Given the description of an element on the screen output the (x, y) to click on. 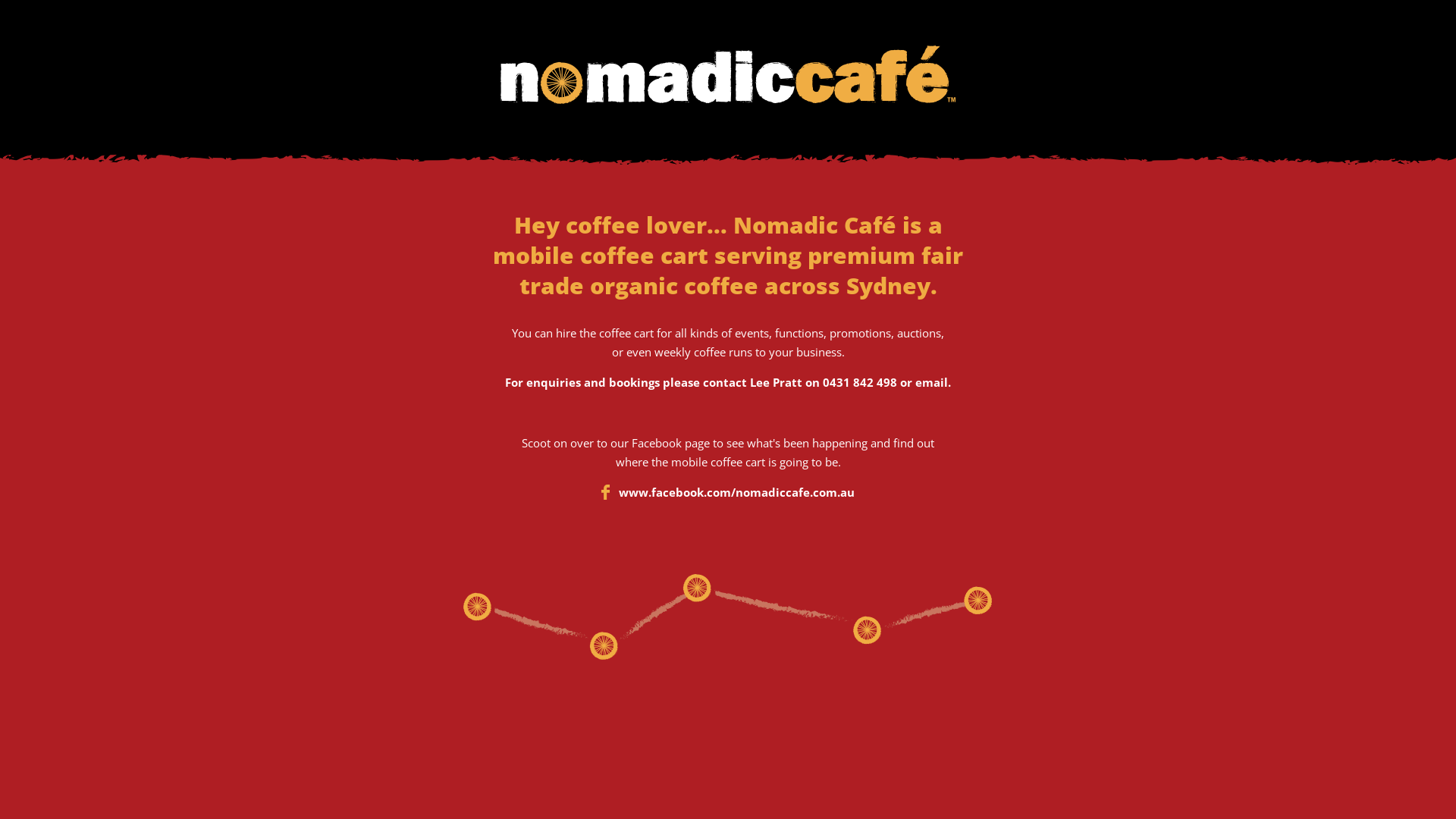
www.facebook.com/nomadiccafe.com.au Element type: text (736, 491)
email Element type: text (931, 381)
